Given the description of an element on the screen output the (x, y) to click on. 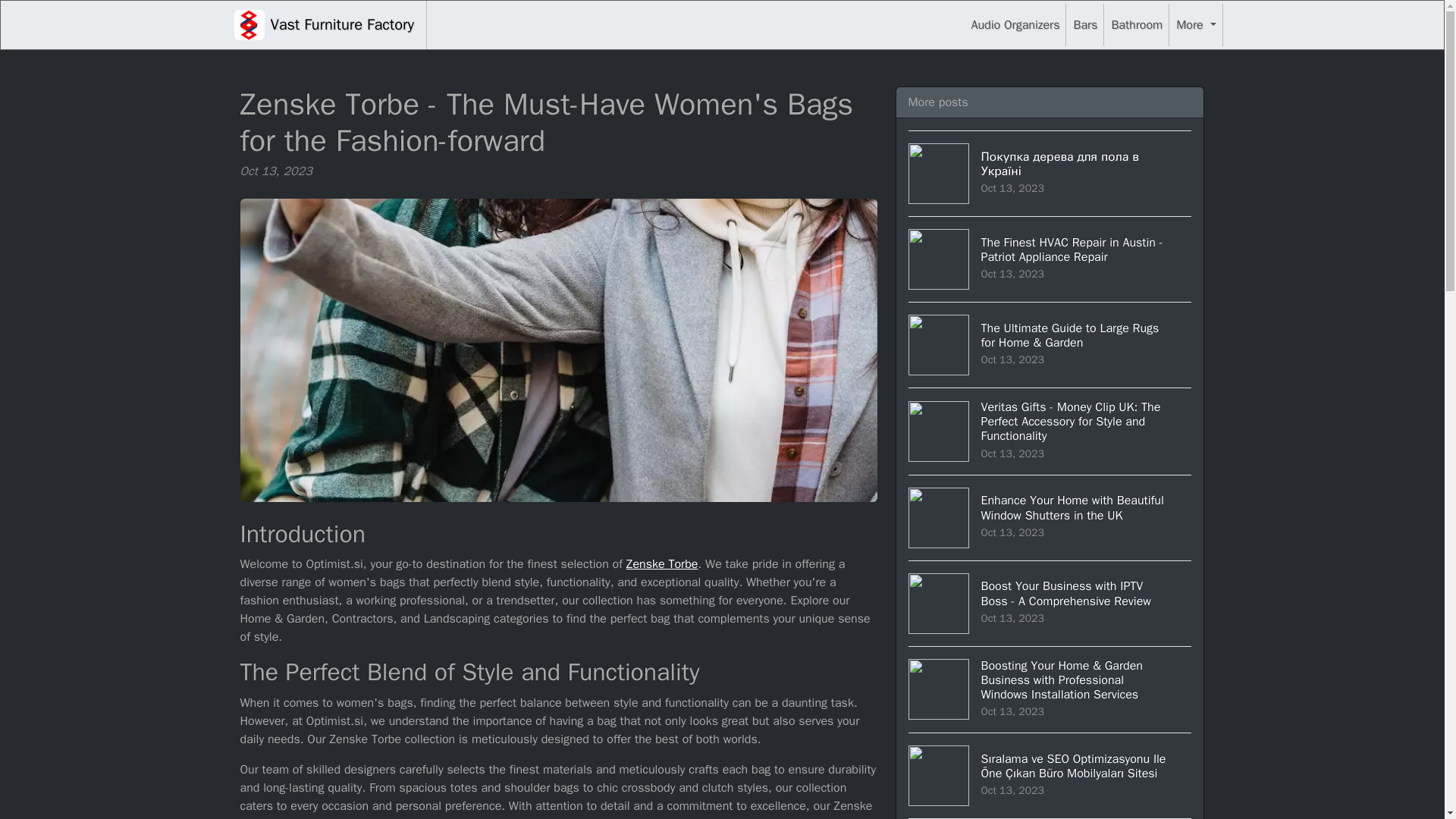
Audio Organizers (1015, 24)
Zenske Torbe (662, 563)
Bathroom (1136, 24)
More (1196, 24)
Bars (1084, 24)
Vast Furniture Factory (323, 24)
